Given the description of an element on the screen output the (x, y) to click on. 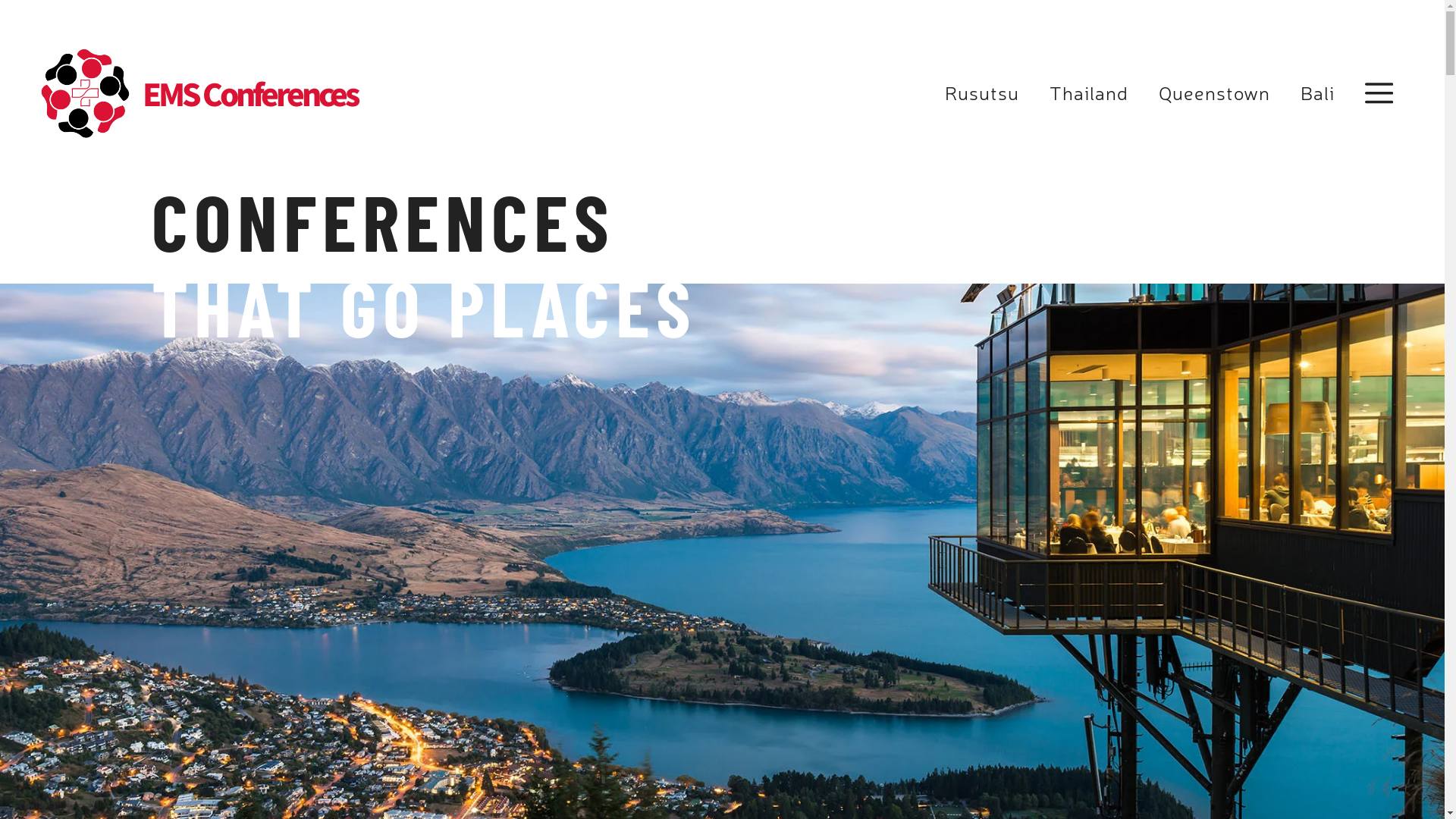
Queenstown Element type: text (1214, 93)
EMS Conferences Element type: hover (85, 93)
Bali Element type: text (1316, 93)
Rusutsu Element type: text (981, 93)
EMS Conferences Element type: text (249, 93)
Thailand Element type: text (1088, 93)
